Given the description of an element on the screen output the (x, y) to click on. 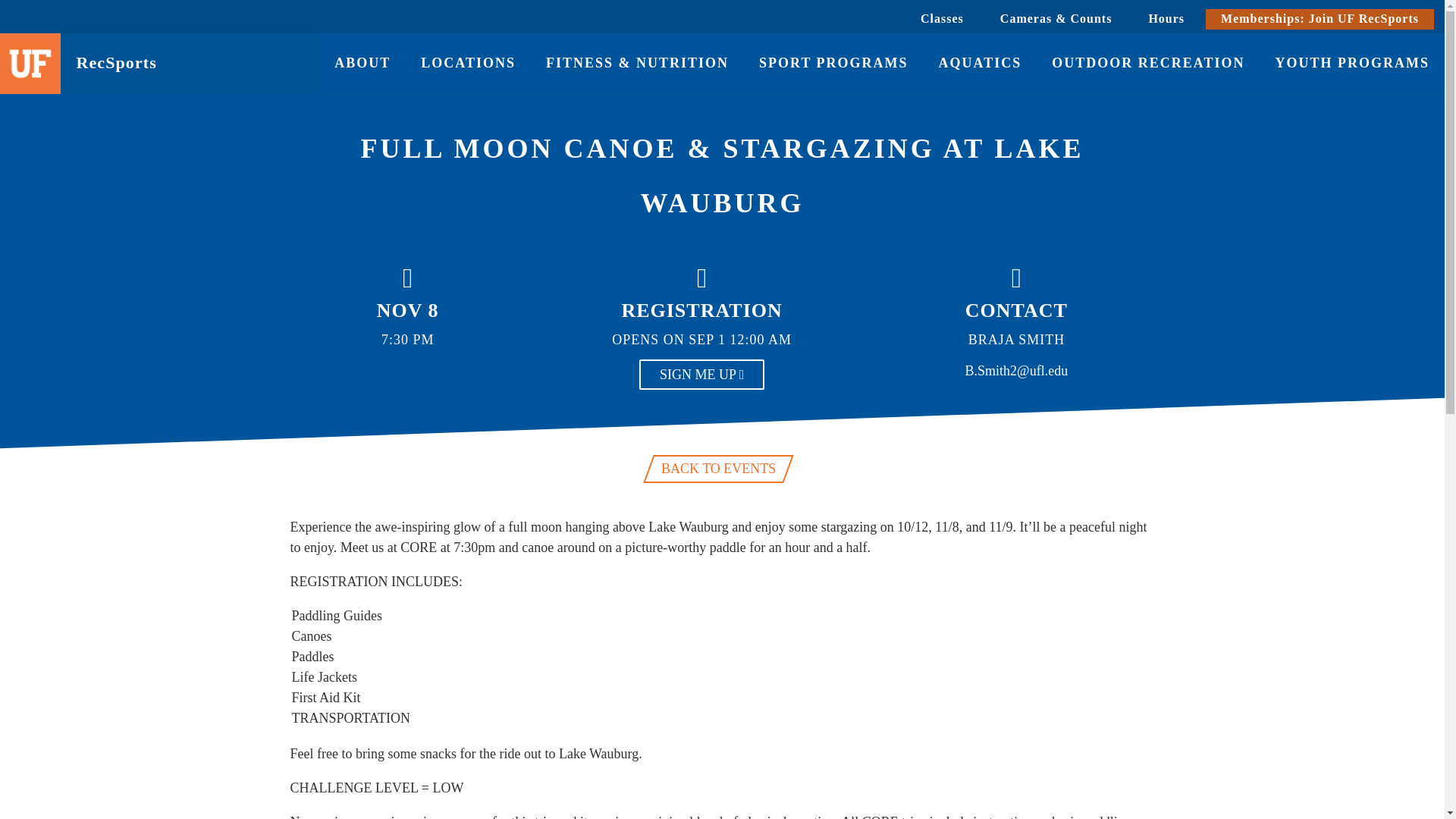
SPORT PROGRAMS (833, 63)
University of Florida, Department of Recreation Sports (196, 62)
Hours (1165, 19)
Memberships: Join UF RecSports (1319, 19)
ABOUT (362, 63)
Classes (941, 19)
RecSports (196, 62)
LOCATIONS (468, 63)
